Given the description of an element on the screen output the (x, y) to click on. 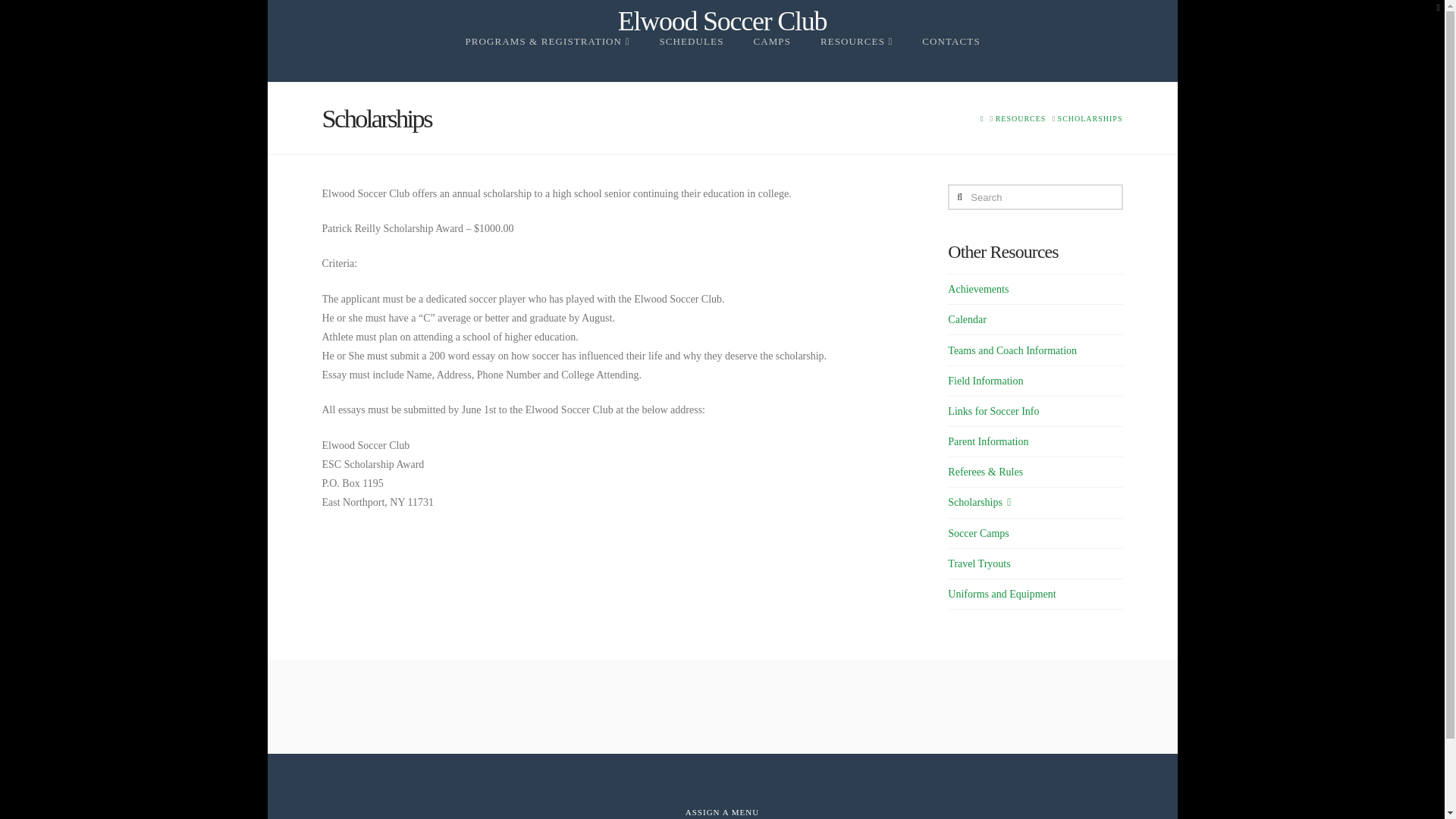
Elwood Soccer Club (722, 21)
You Are Here (1090, 118)
RESOURCES (1020, 118)
CONTACTS (950, 58)
RESOURCES (856, 58)
SCHEDULES (690, 58)
CAMPS (771, 58)
